Given the description of an element on the screen output the (x, y) to click on. 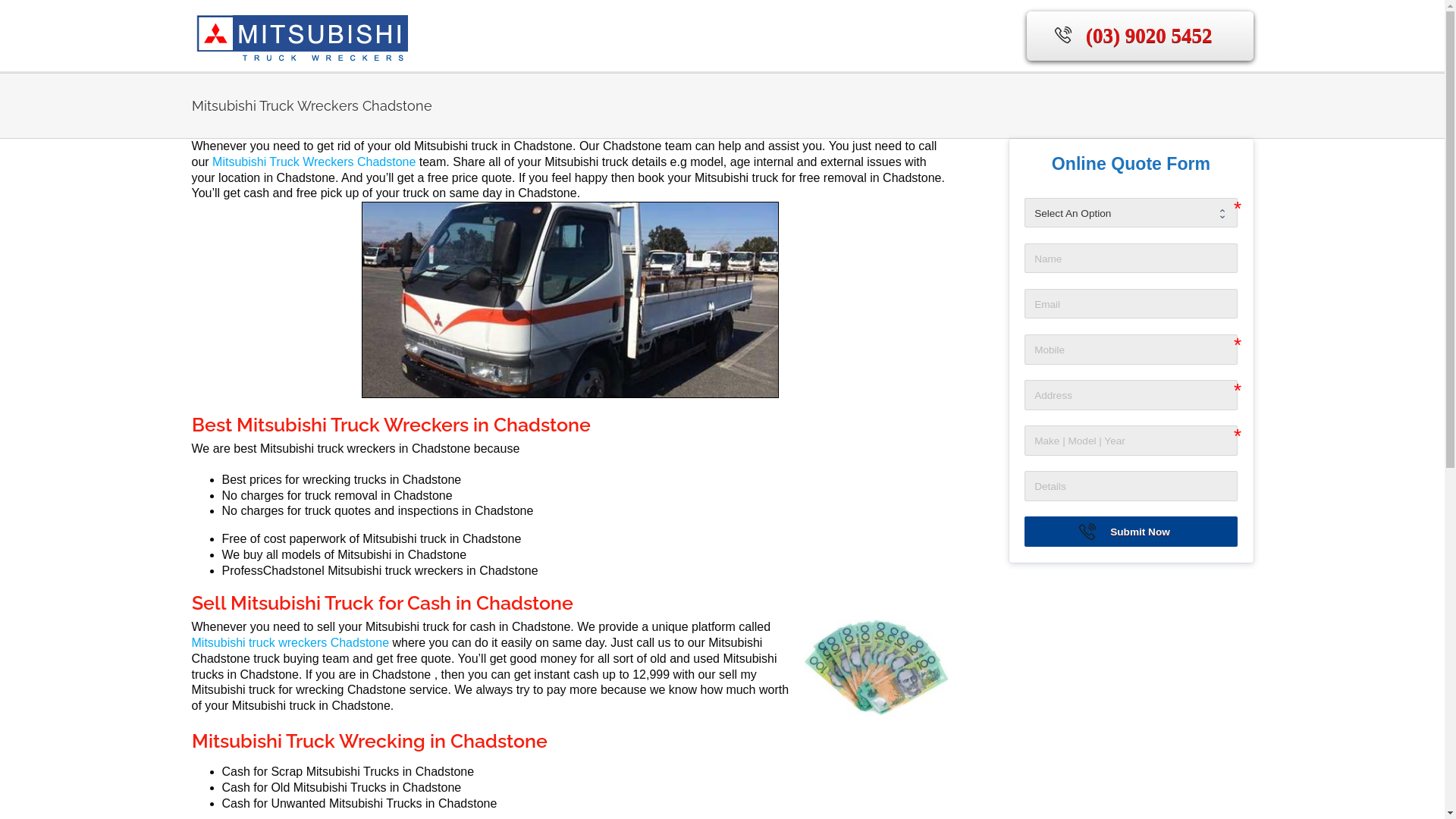
(03) 9020 5452 Element type: text (1139, 34)
Mitsubishi Truck Wreckers Chadstone Element type: text (315, 161)
Mitsubishi truck wreckers Chadstone Element type: text (291, 642)
Submit Now Element type: text (1130, 531)
